Given the description of an element on the screen output the (x, y) to click on. 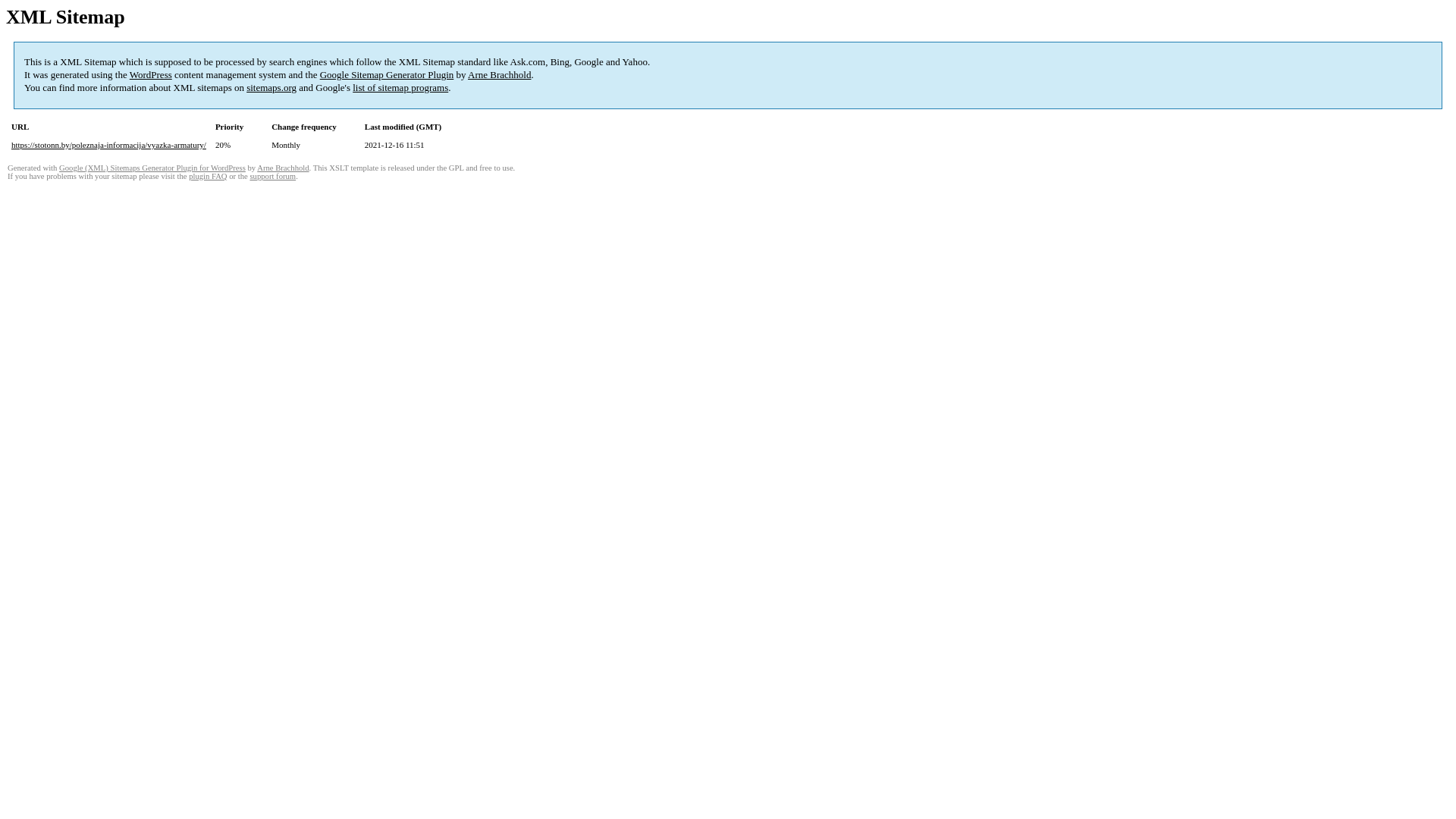
support forum Element type: text (272, 176)
WordPress Element type: text (150, 74)
https://stotonn.by/poleznaja-informacija/vyazka-armatury/ Element type: text (108, 144)
sitemaps.org Element type: text (271, 87)
Google Sitemap Generator Plugin Element type: text (387, 74)
Google (XML) Sitemaps Generator Plugin for WordPress Element type: text (152, 167)
Arne Brachhold Element type: text (498, 74)
list of sitemap programs Element type: text (400, 87)
Arne Brachhold Element type: text (282, 167)
plugin FAQ Element type: text (207, 176)
